Given the description of an element on the screen output the (x, y) to click on. 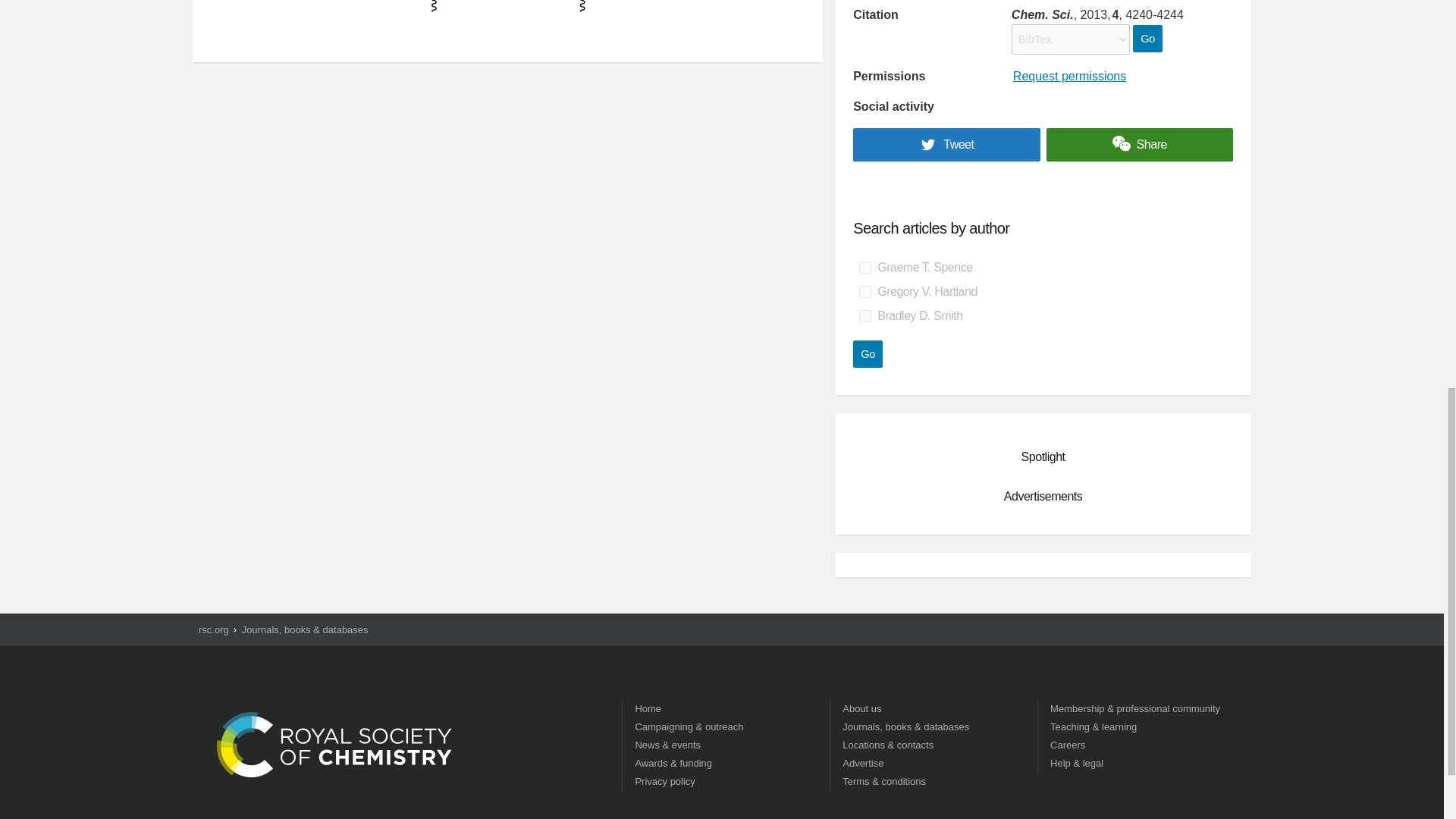
Go (867, 353)
Go (1146, 38)
Request permissions (1068, 75)
on (864, 316)
Go (867, 353)
on (864, 267)
Go (1146, 38)
on (864, 291)
